Given the description of an element on the screen output the (x, y) to click on. 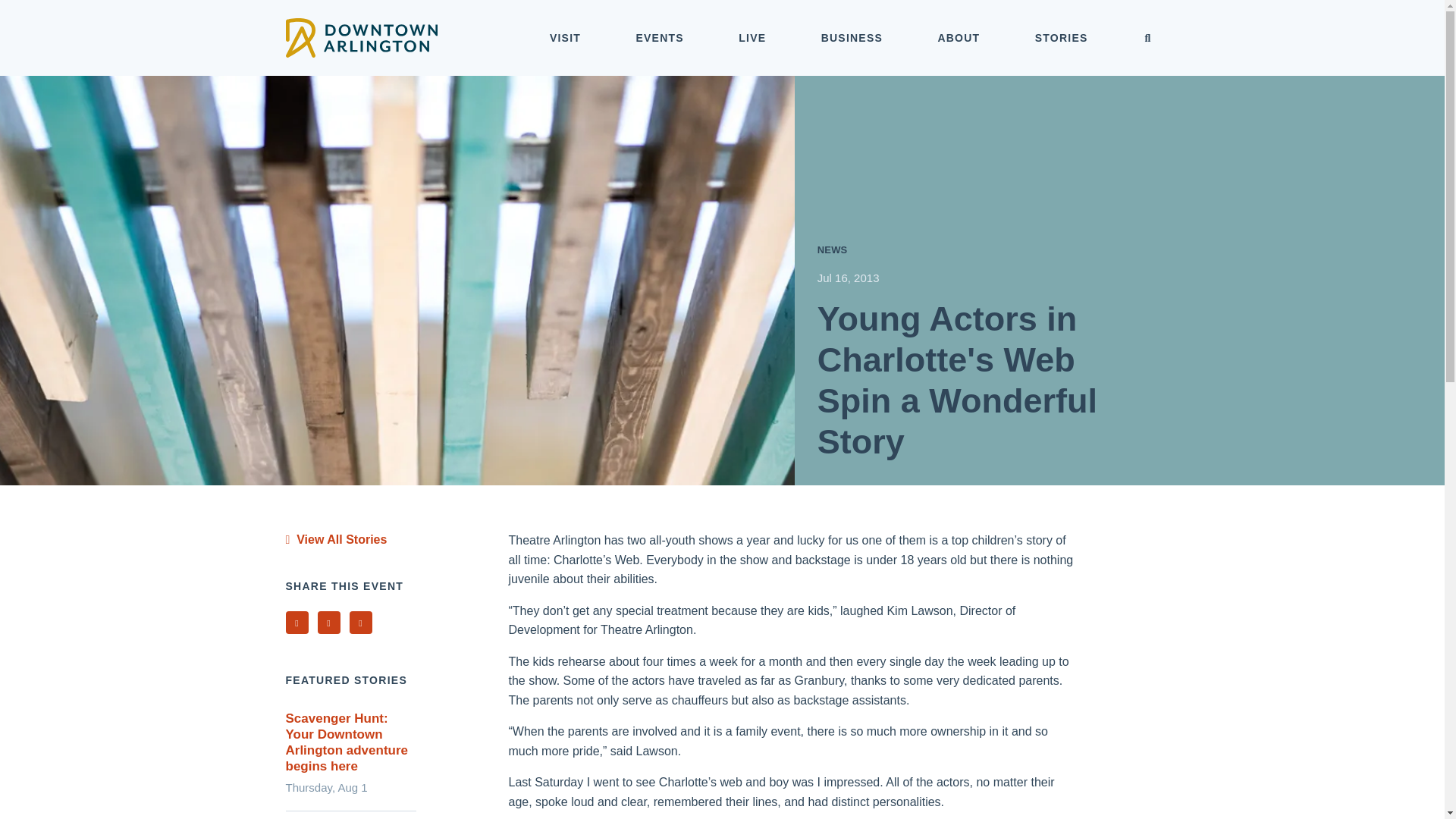
BUSINESS (851, 38)
VISIT (565, 38)
EVENTS (659, 38)
ABOUT (958, 38)
LIVE (752, 38)
